Given the description of an element on the screen output the (x, y) to click on. 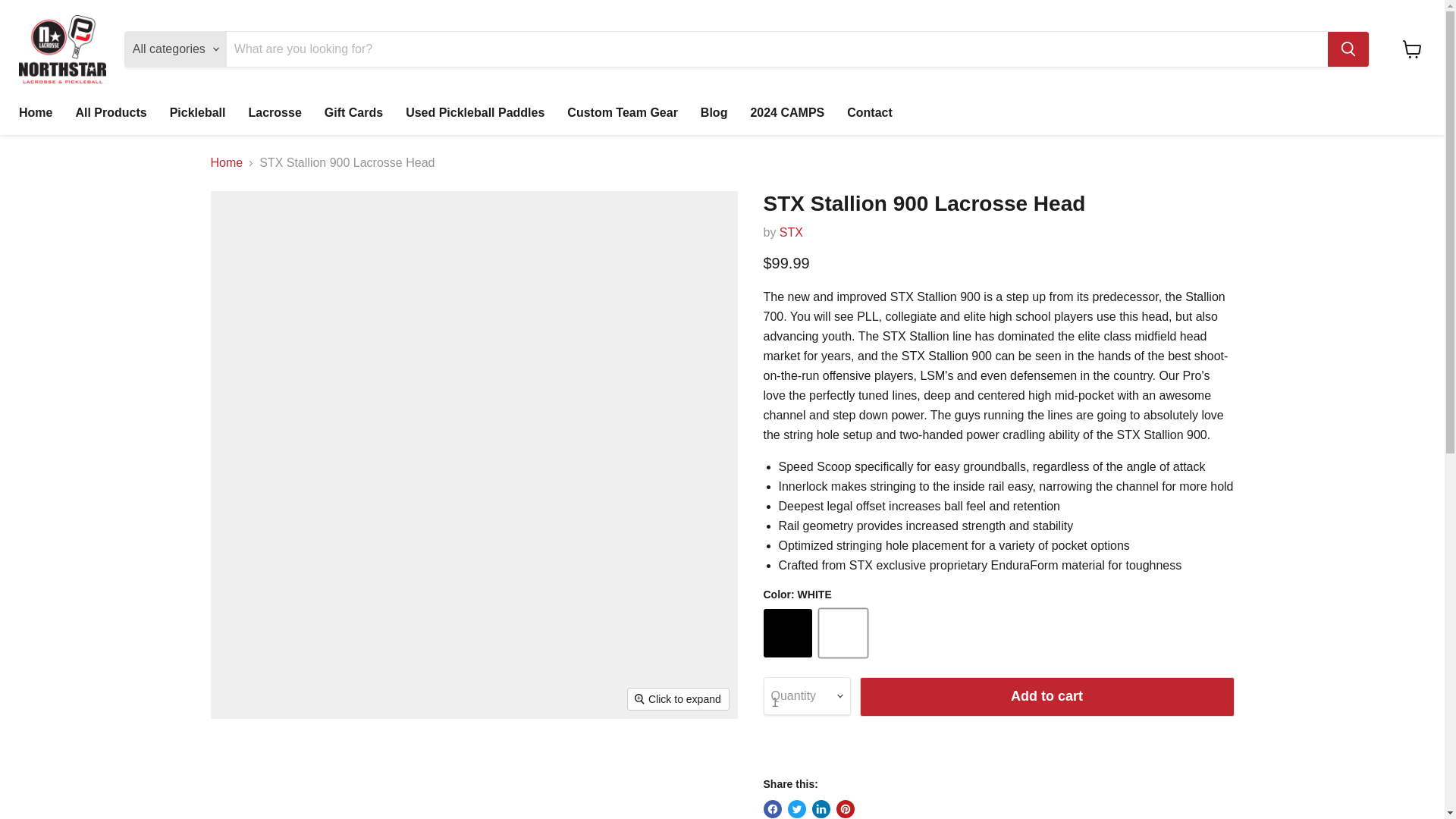
Custom Team Gear (622, 112)
Gift Cards (353, 112)
Used Pickleball Paddles (475, 112)
Pickleball (197, 112)
All Products (110, 112)
Home (35, 112)
STX (790, 232)
2024 CAMPS (786, 112)
View cart (1411, 49)
Lacrosse (275, 112)
Contact (869, 112)
Blog (713, 112)
